Given the description of an element on the screen output the (x, y) to click on. 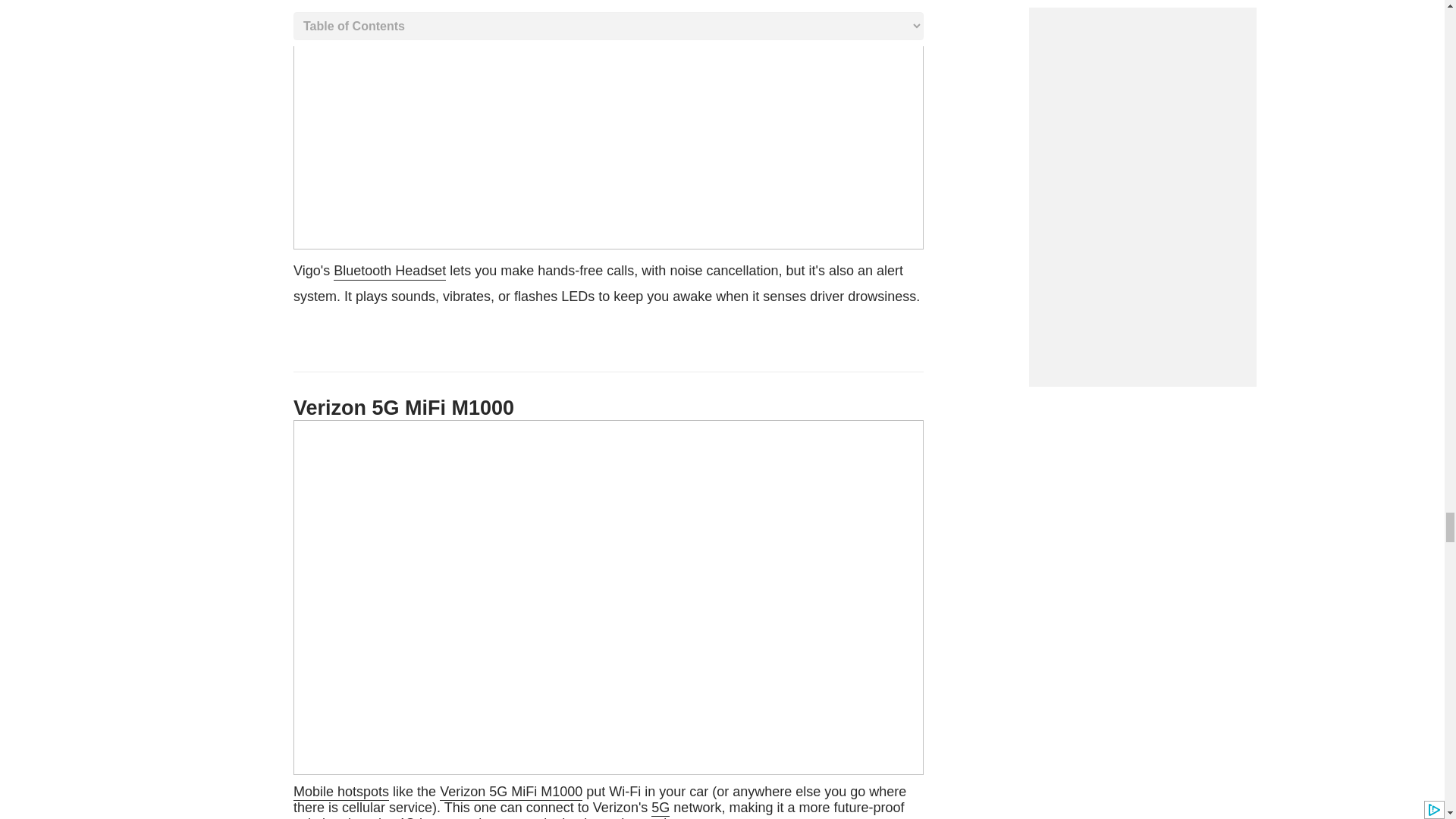
Buy It Now (603, 801)
